Given the description of an element on the screen output the (x, y) to click on. 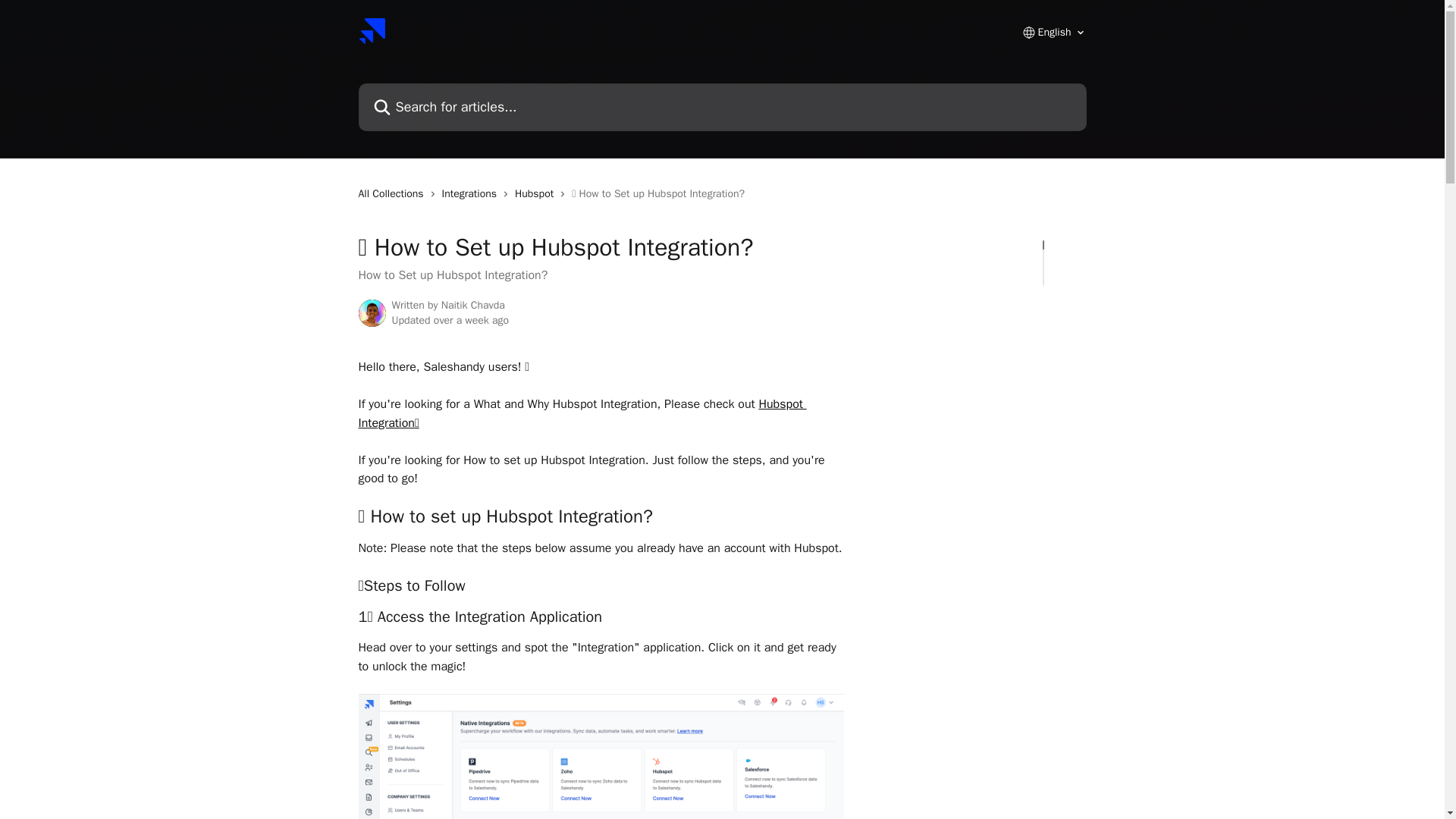
Integrations (472, 193)
All Collections (393, 193)
Hubspot (537, 193)
